Given the description of an element on the screen output the (x, y) to click on. 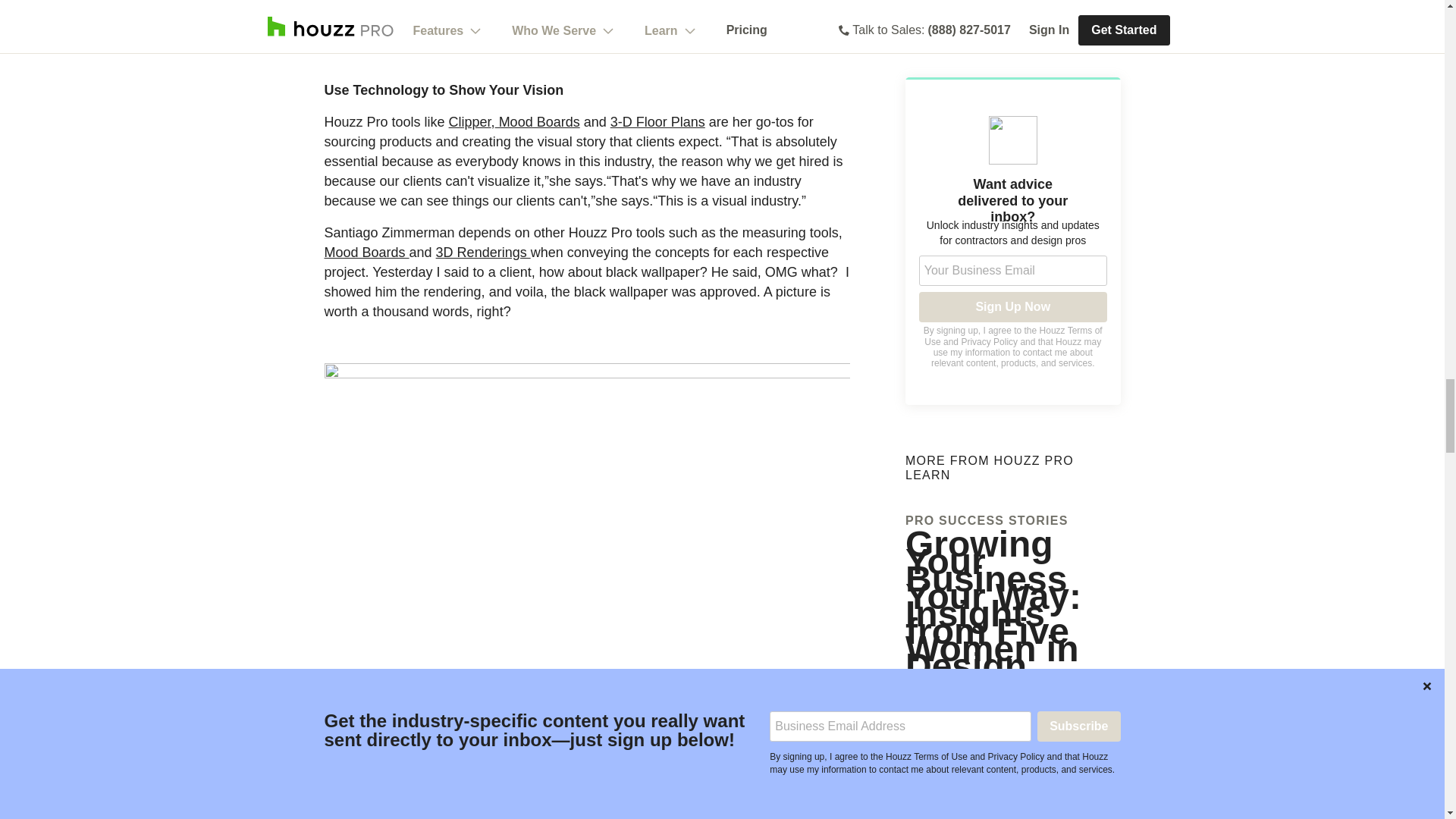
3D Renderings (483, 252)
Mood Boards (366, 252)
Clipper (470, 121)
Mood Boards (537, 121)
3-D Floor Plans (657, 121)
